Given the description of an element on the screen output the (x, y) to click on. 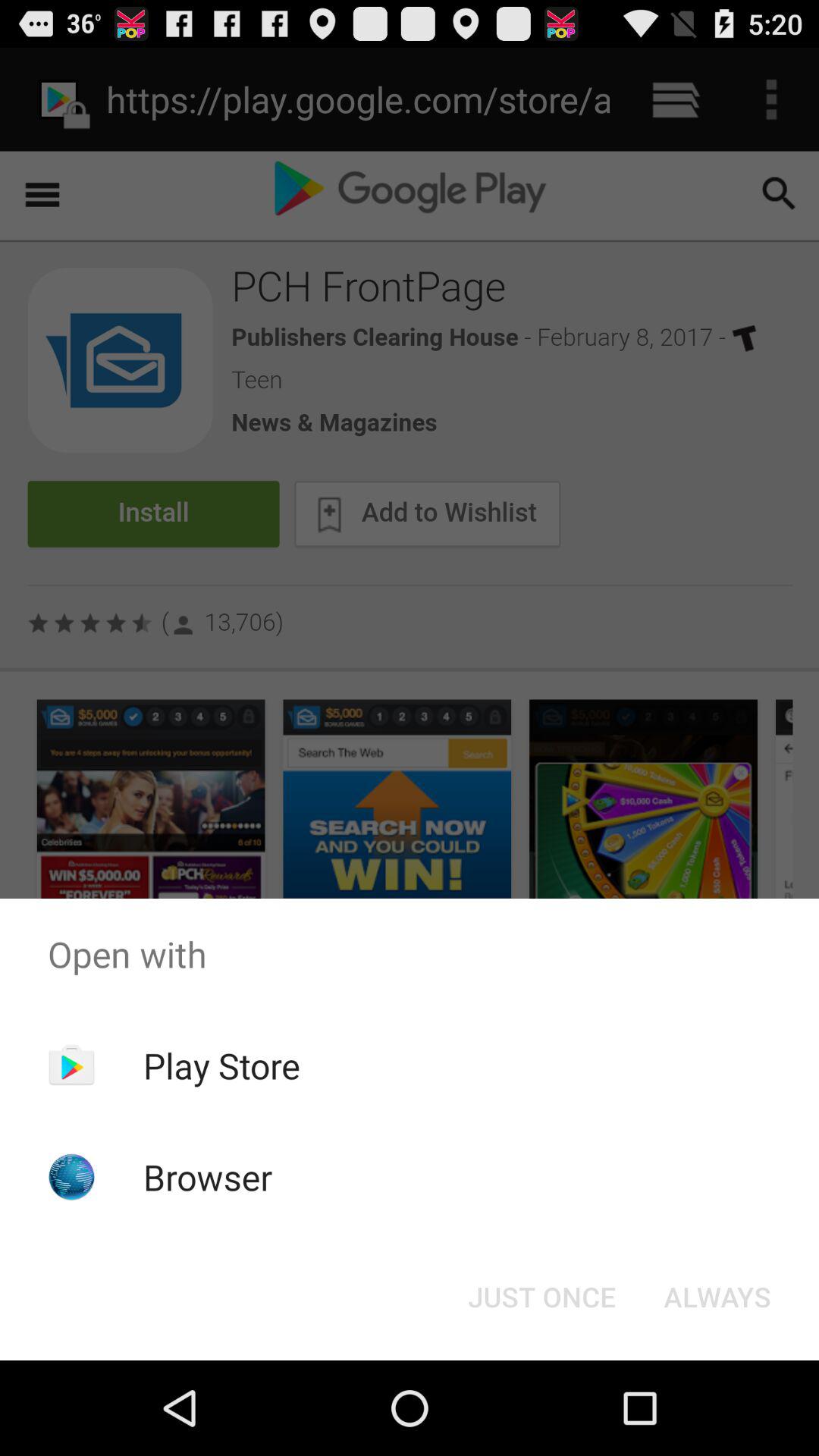
click the icon below the open with item (717, 1296)
